Given the description of an element on the screen output the (x, y) to click on. 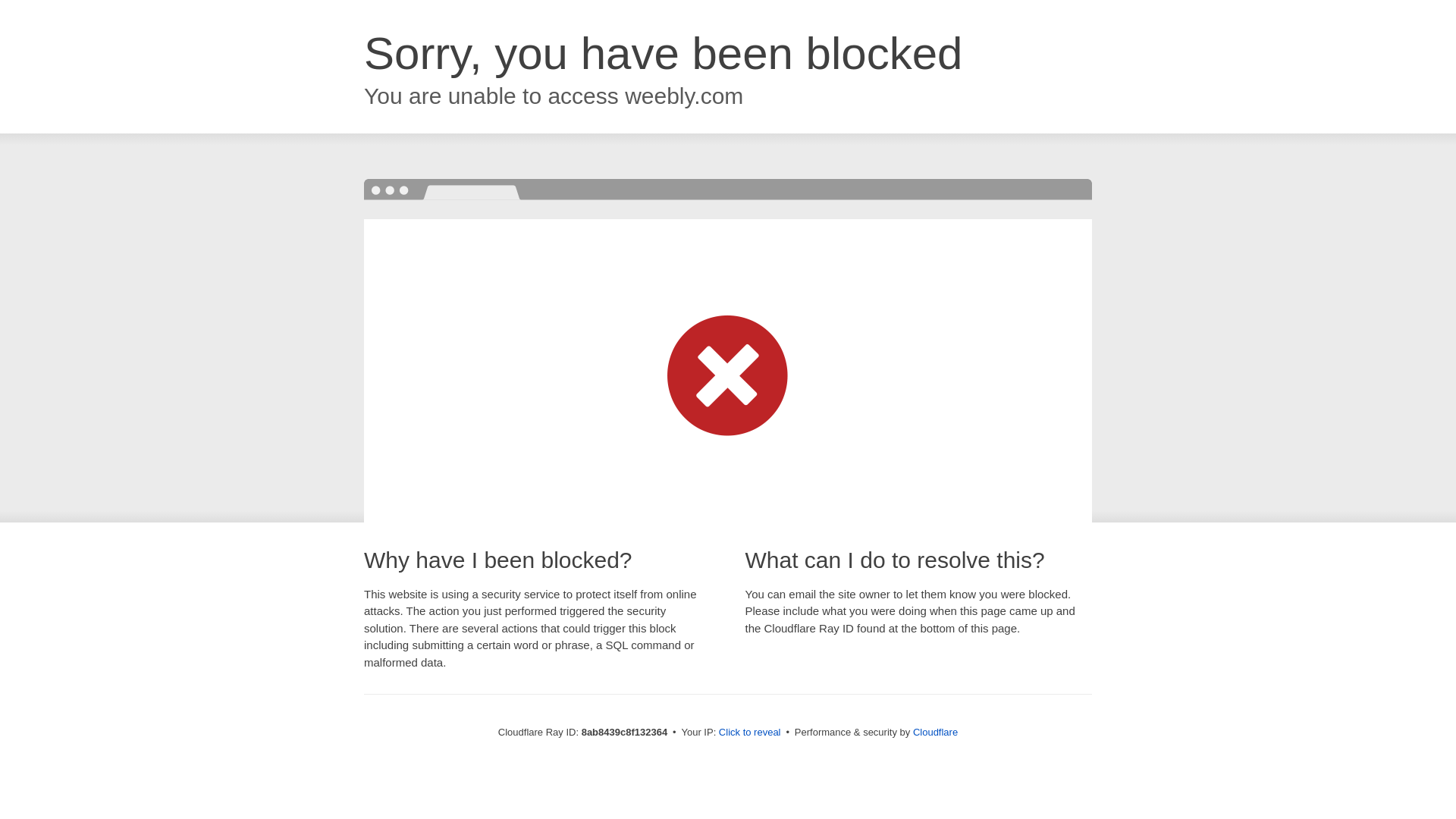
Click to reveal (749, 732)
Cloudflare (935, 731)
